Given the description of an element on the screen output the (x, y) to click on. 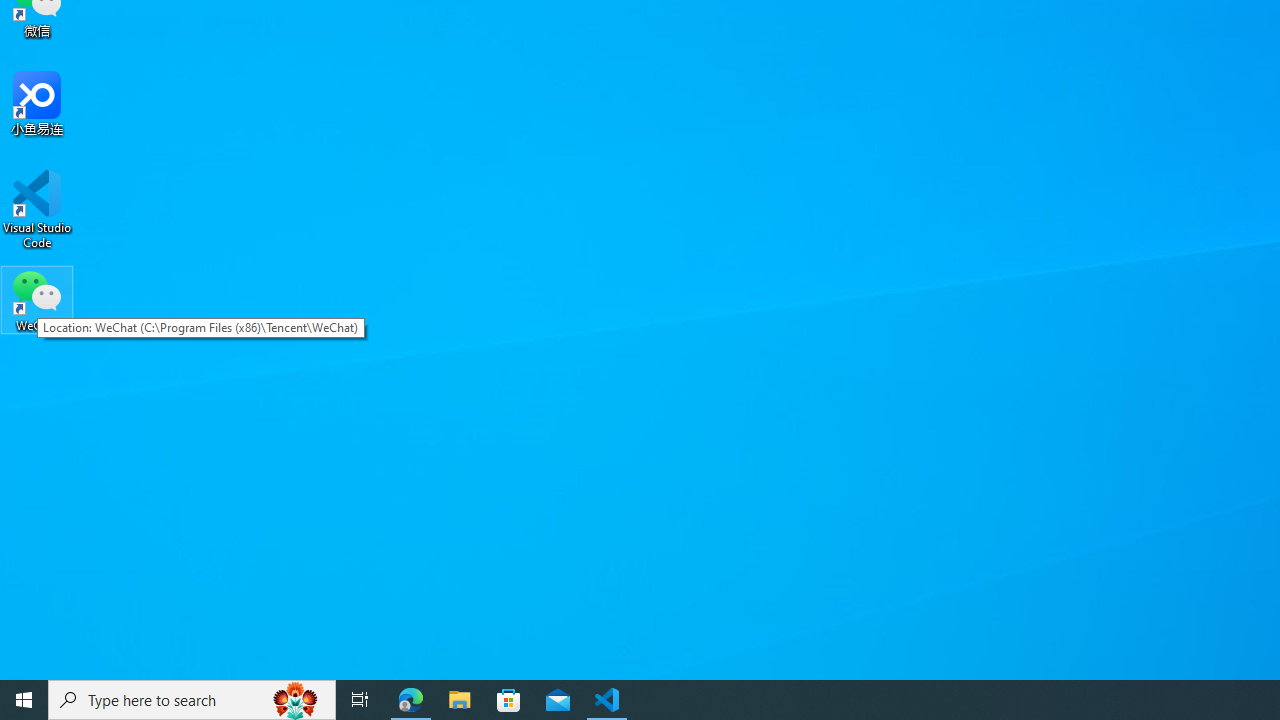
Task View (359, 699)
Visual Studio Code - 1 running window (607, 699)
Microsoft Edge - 1 running window (411, 699)
Start (24, 699)
Search highlights icon opens search home window (295, 699)
File Explorer (460, 699)
WeChat (37, 299)
Visual Studio Code (37, 209)
Microsoft Store (509, 699)
Type here to search (191, 699)
